Given the description of an element on the screen output the (x, y) to click on. 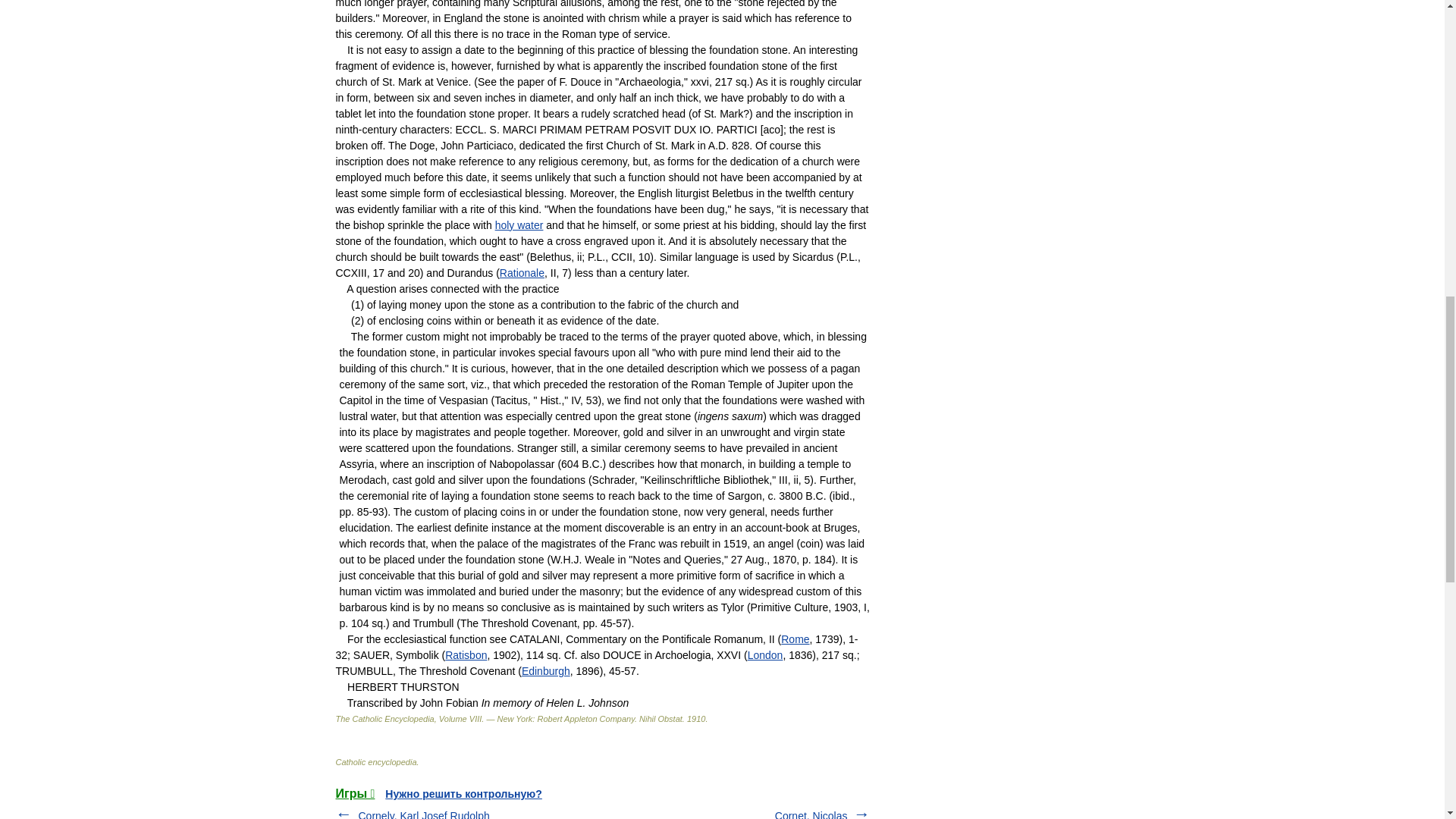
Cornely, Karl Josef Rudolph (423, 814)
Cornely, Karl Josef Rudolph (423, 814)
Edinburgh (545, 671)
Rome (794, 639)
Cornet, Nicolas (810, 814)
London (765, 654)
Ratisbon (465, 654)
Cornet, Nicolas (810, 814)
holy water (519, 224)
Rationale (521, 272)
